Given the description of an element on the screen output the (x, y) to click on. 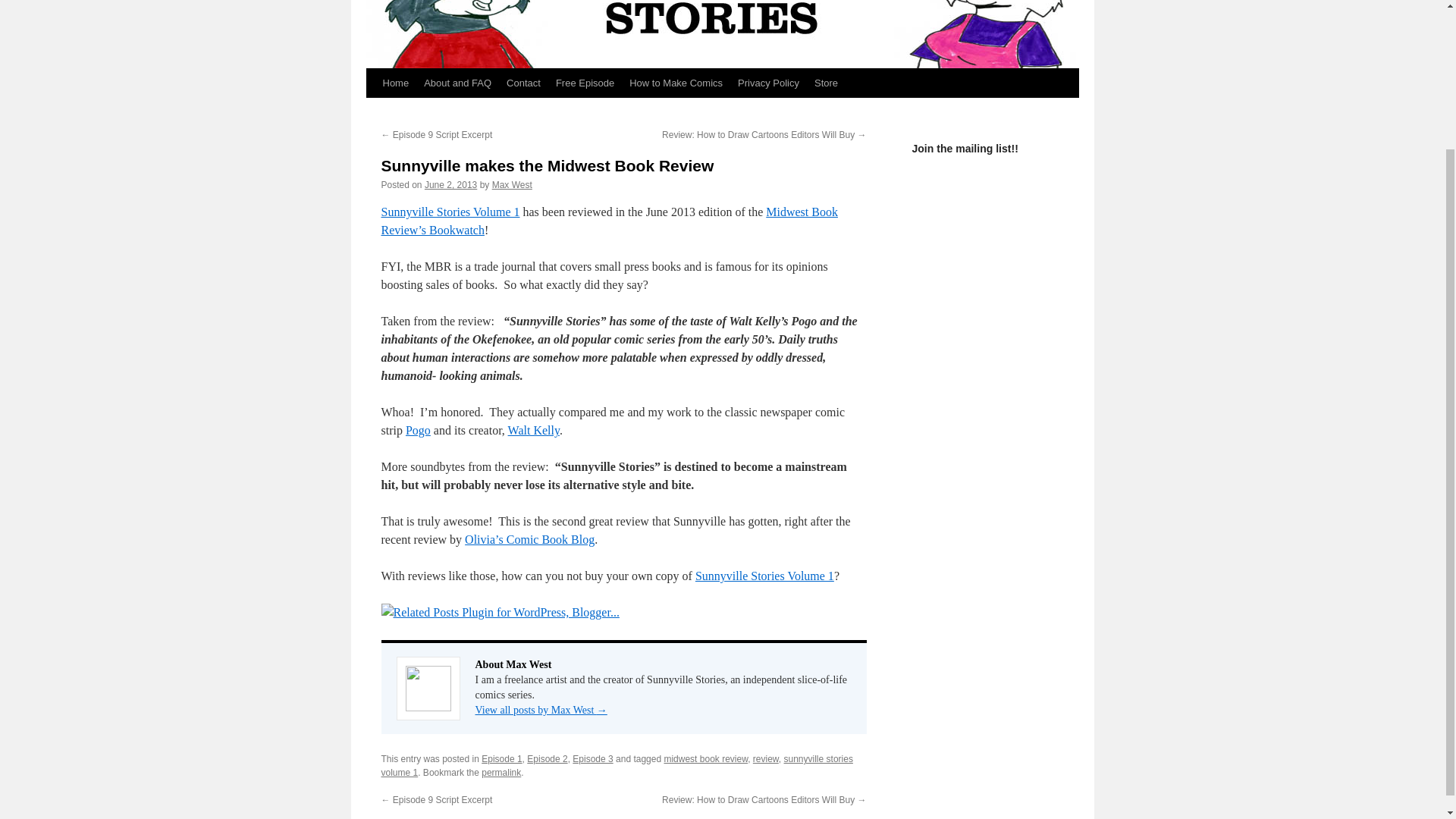
June 2, 2013 (451, 184)
Where to get Sunnyville Stories (764, 575)
midwest book review (705, 758)
How to Make Comics (675, 82)
Midwest Book Review (608, 220)
Sunnyville Stories Volume 1 (764, 575)
Pogo (418, 430)
Free Episode (584, 82)
Home (395, 82)
sunnyville stories volume 1 (615, 765)
